Given the description of an element on the screen output the (x, y) to click on. 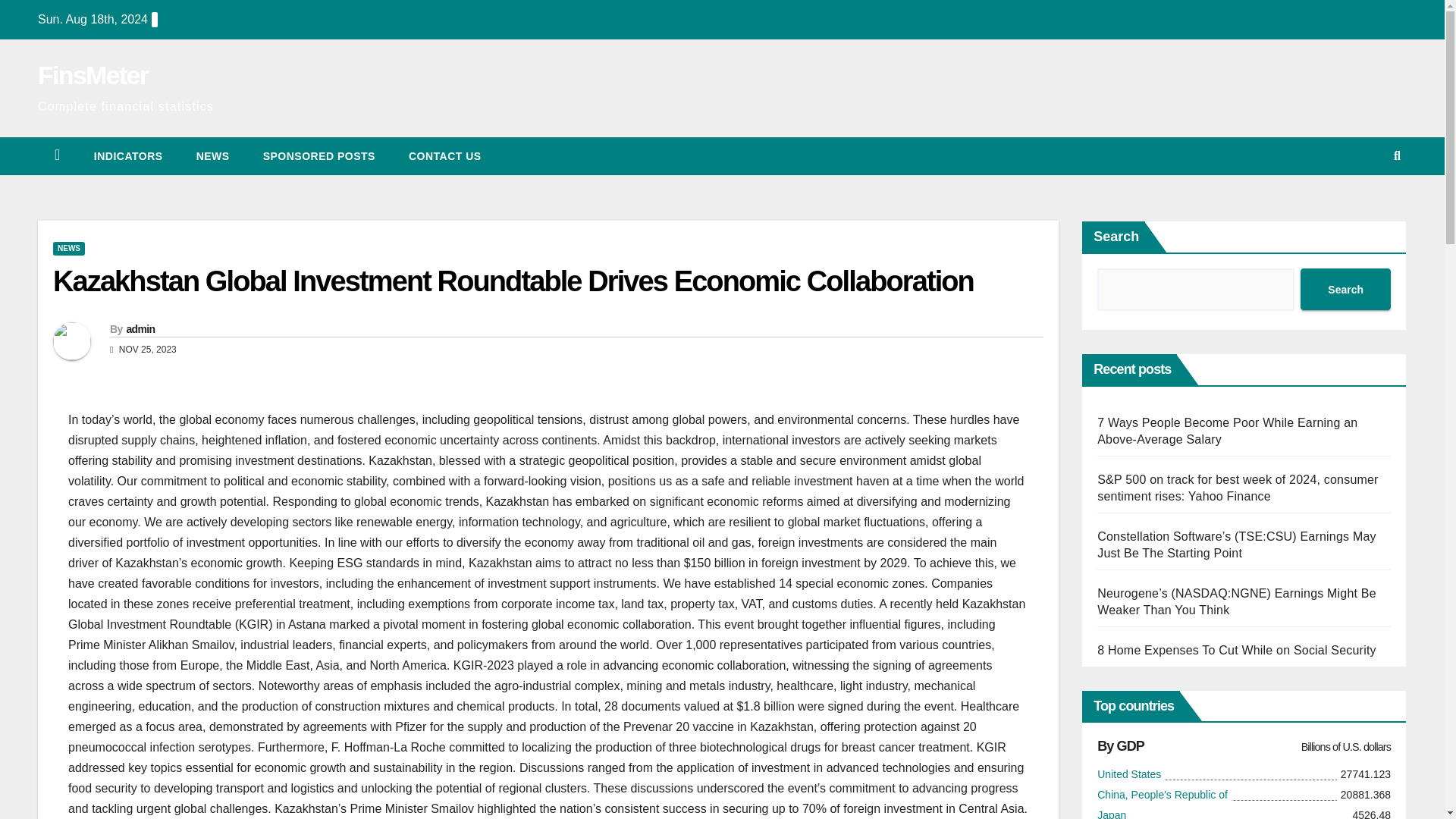
NEWS (212, 156)
CONTACT US (444, 156)
Sponsored posts (318, 156)
Indicators (128, 156)
Contact us (444, 156)
News (212, 156)
admin (139, 328)
NEWS (68, 248)
SPONSORED POSTS (318, 156)
